Given the description of an element on the screen output the (x, y) to click on. 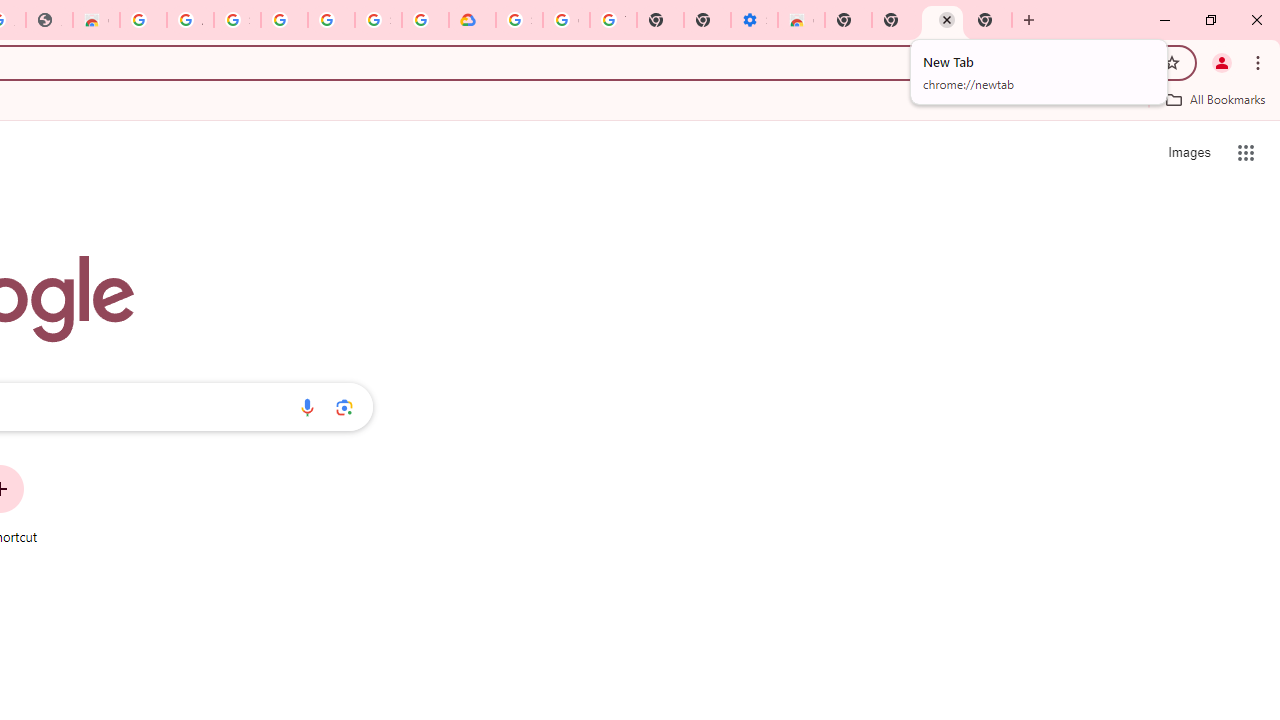
Turn cookies on or off - Computer - Google Account Help (613, 20)
New Tab (848, 20)
Chrome Web Store - Household (96, 20)
Sign in - Google Accounts (518, 20)
Sign in - Google Accounts (377, 20)
Google Account Help (566, 20)
Ad Settings (189, 20)
